Given the description of an element on the screen output the (x, y) to click on. 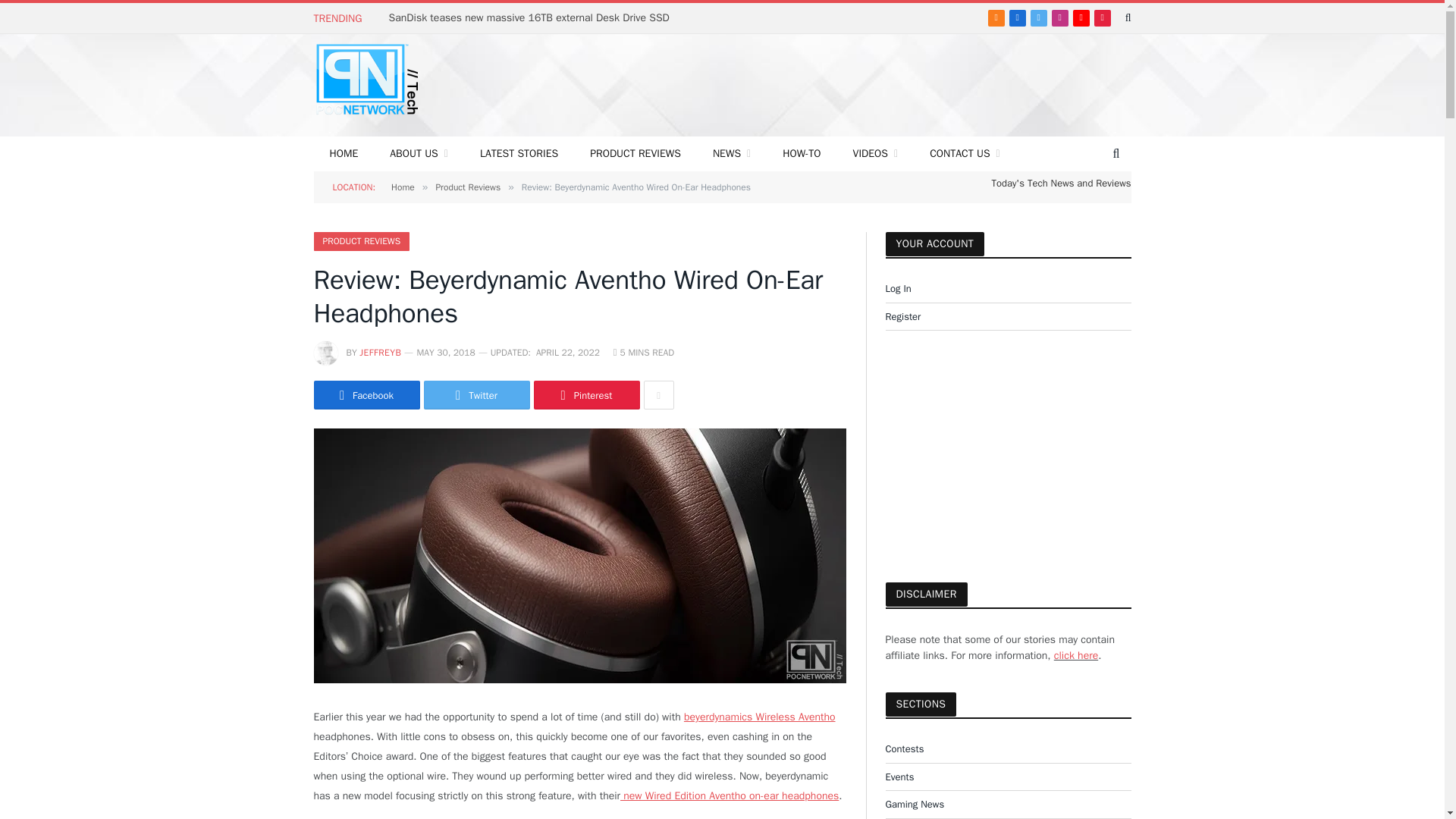
Pinterest (1102, 17)
NEWS (732, 153)
Share on Pinterest (587, 394)
VIDEOS (875, 153)
Instagram (1059, 17)
Posts by JeffreyB (380, 352)
HOME (344, 153)
HOW-TO (801, 153)
ABOUT US (419, 153)
Facebook (1017, 17)
